Given the description of an element on the screen output the (x, y) to click on. 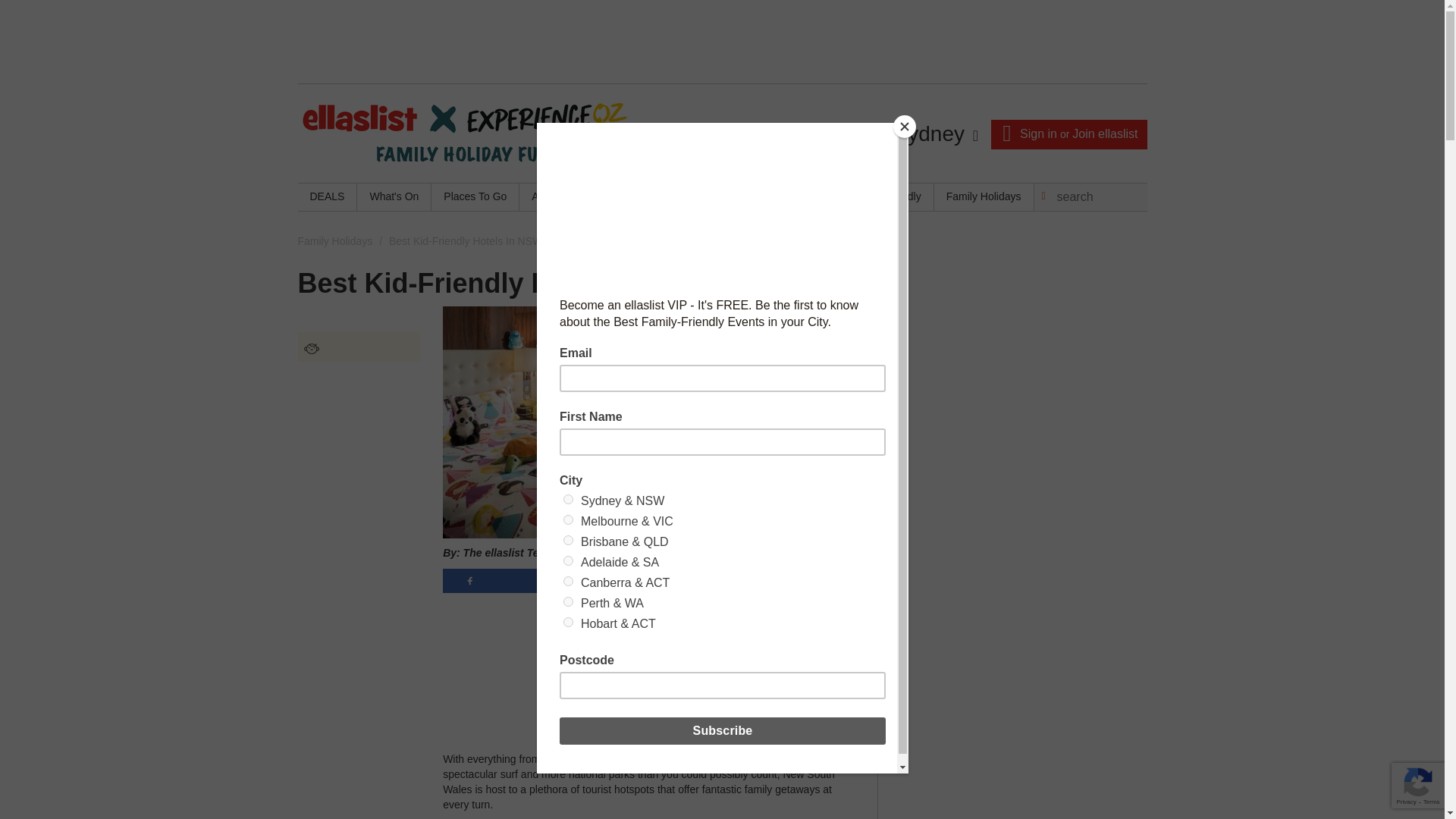
3rd party ad content (650, 656)
Kids Classes (642, 196)
Sensory-Friendly (880, 196)
Schools (716, 196)
3rd party ad content (1012, 362)
Join ellaslist (1104, 133)
3rd party ad content (1012, 590)
Around You (558, 196)
3rd party ad content (721, 41)
What's On (393, 196)
Places To Go (474, 196)
Sign in (1038, 133)
Family Holidays (983, 196)
DEALS (326, 196)
Sydney (935, 133)
